Given the description of an element on the screen output the (x, y) to click on. 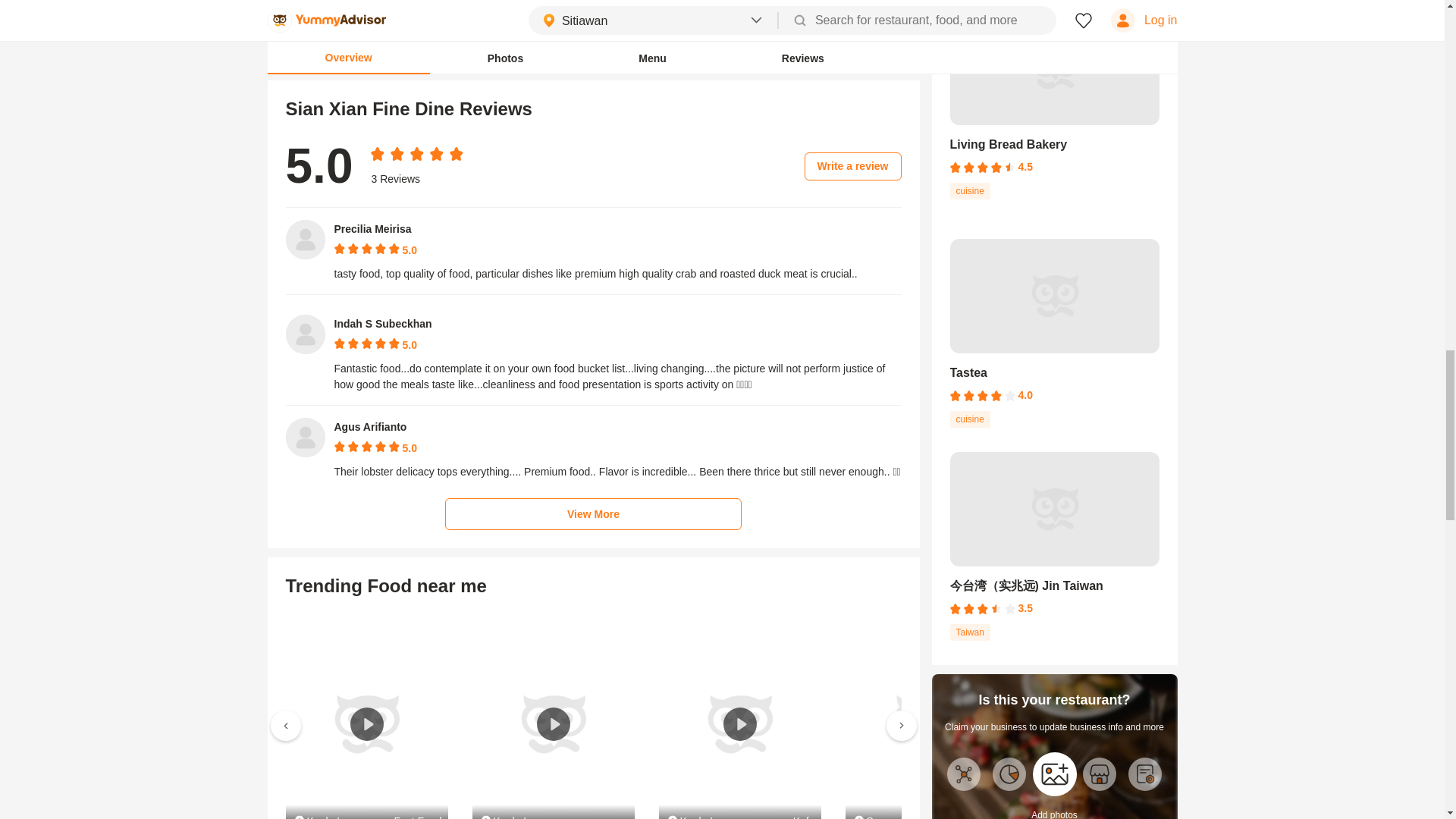
View More (593, 513)
